Given the description of an element on the screen output the (x, y) to click on. 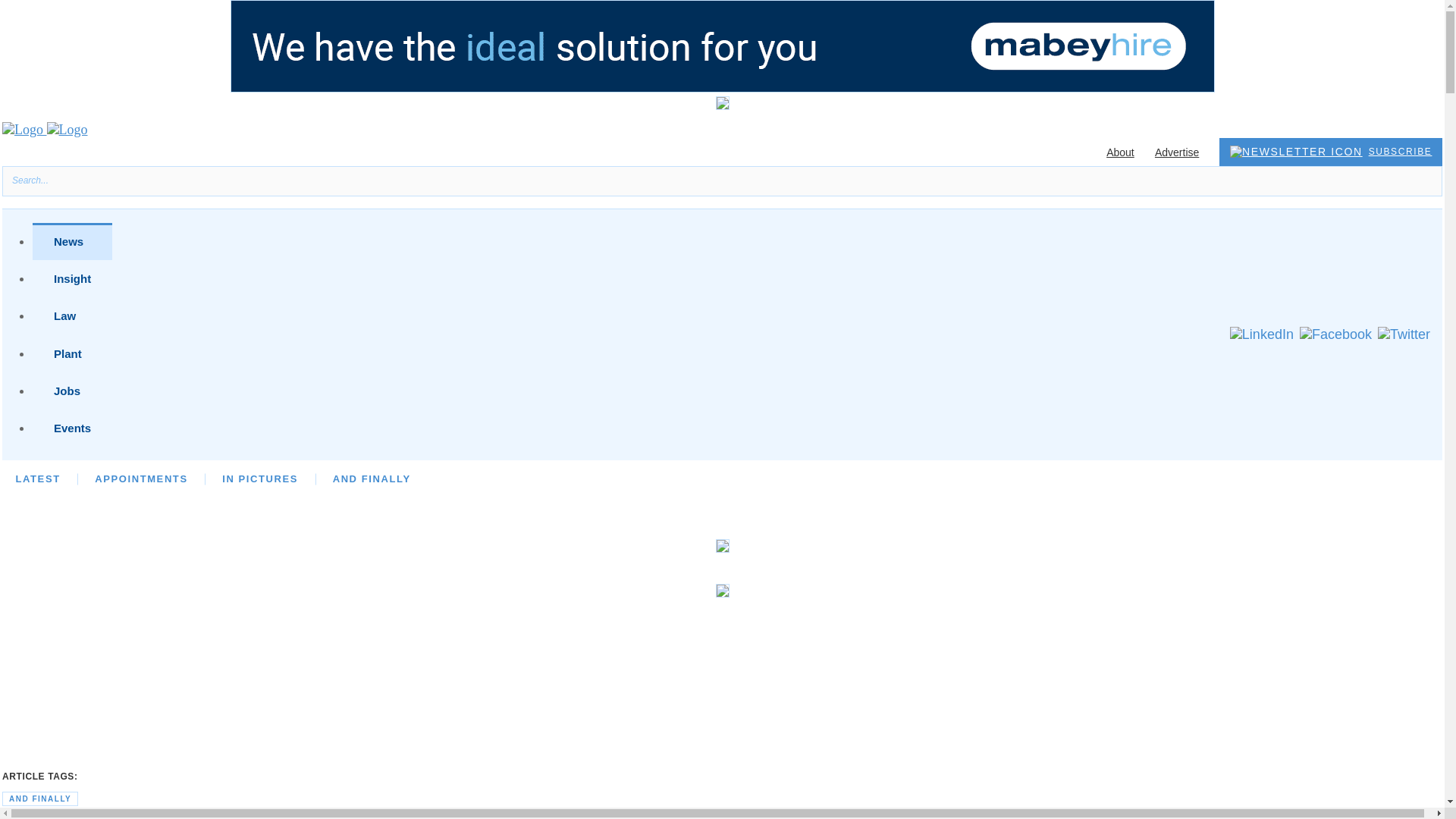
APPOINTMENTS (140, 478)
COMPANY PROFILES (838, 478)
AND FINALLY (371, 478)
OPINION (307, 478)
News (72, 241)
ARCHITECTS' SHOWCASE (669, 478)
Plant (72, 353)
LATEST (36, 478)
INTERVIEWS (404, 478)
Events (72, 427)
